Given the description of an element on the screen output the (x, y) to click on. 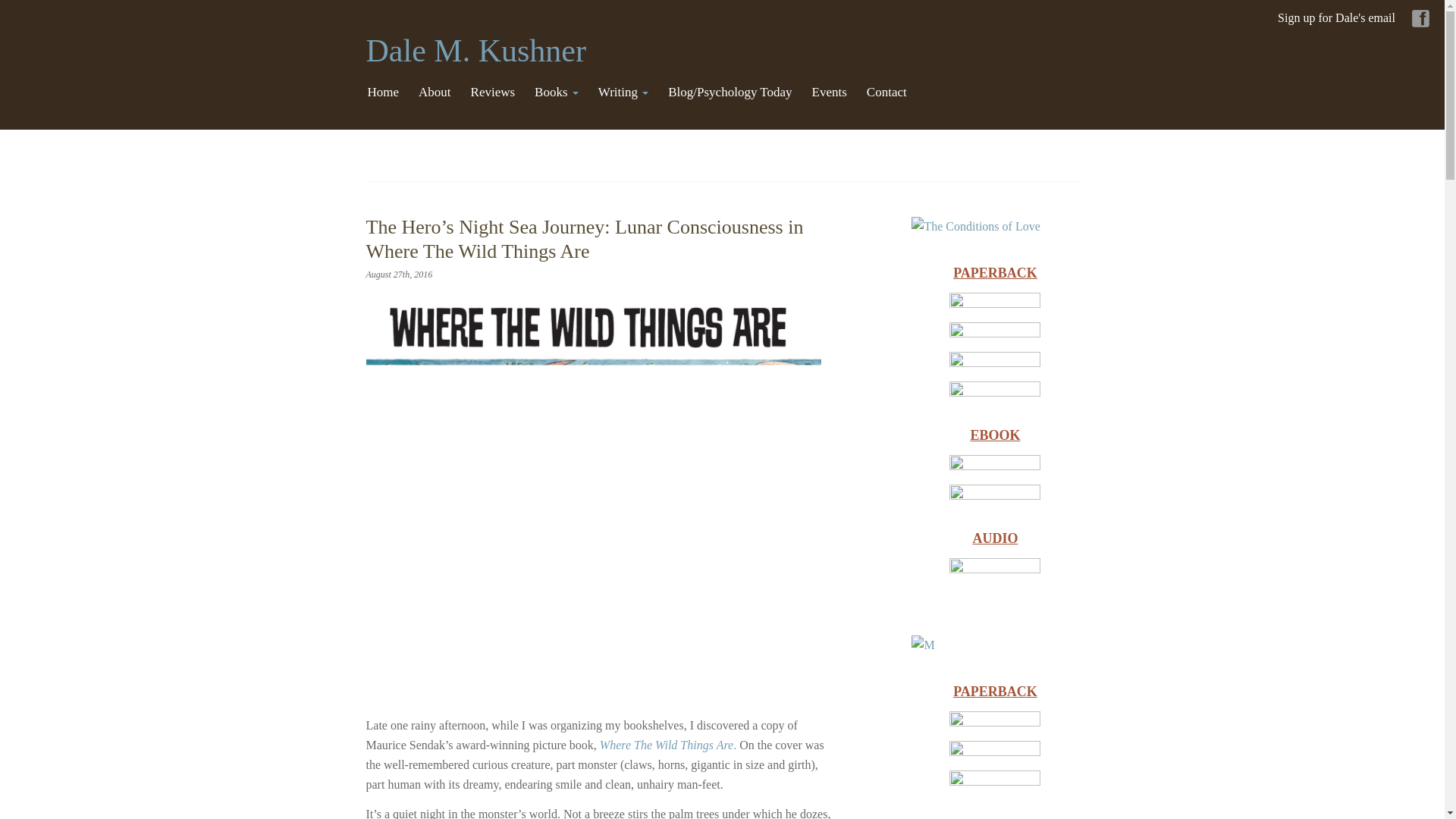
Dale M. Kushner (475, 50)
Books (556, 92)
Sign up for Dale's email (1336, 17)
Contact (886, 92)
Where The Wild Things Are. (667, 744)
Events (829, 92)
About (434, 92)
Reviews (492, 92)
Dale M. Kushner (475, 50)
Home (382, 92)
